Given the description of an element on the screen output the (x, y) to click on. 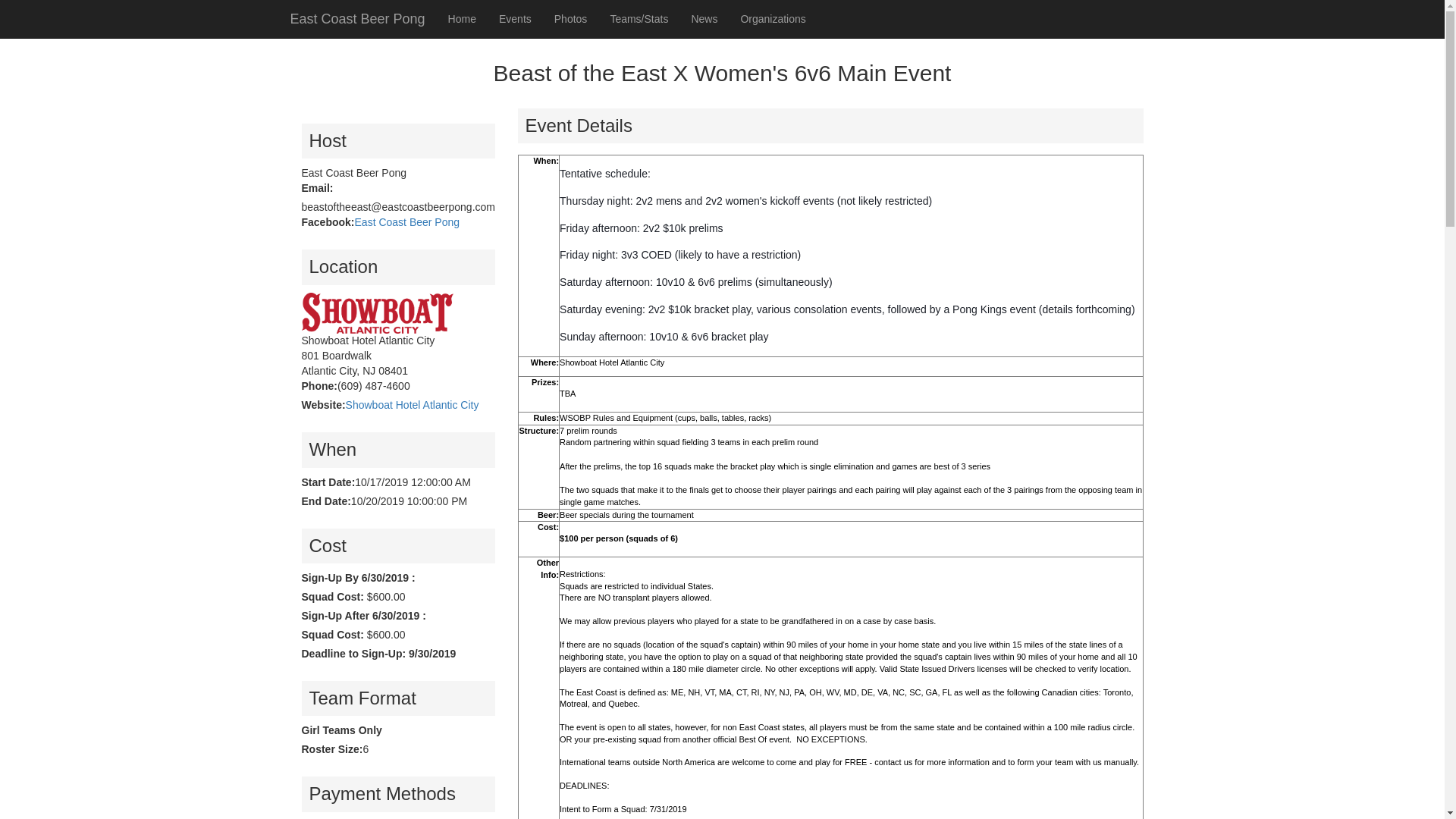
Events (515, 18)
Home (461, 18)
East Coast Beer Pong (357, 18)
Photos (570, 18)
East Coast Beer Pong (407, 222)
News (704, 18)
Showboat Hotel Atlantic City (412, 404)
Organizations (772, 18)
